Given the description of an element on the screen output the (x, y) to click on. 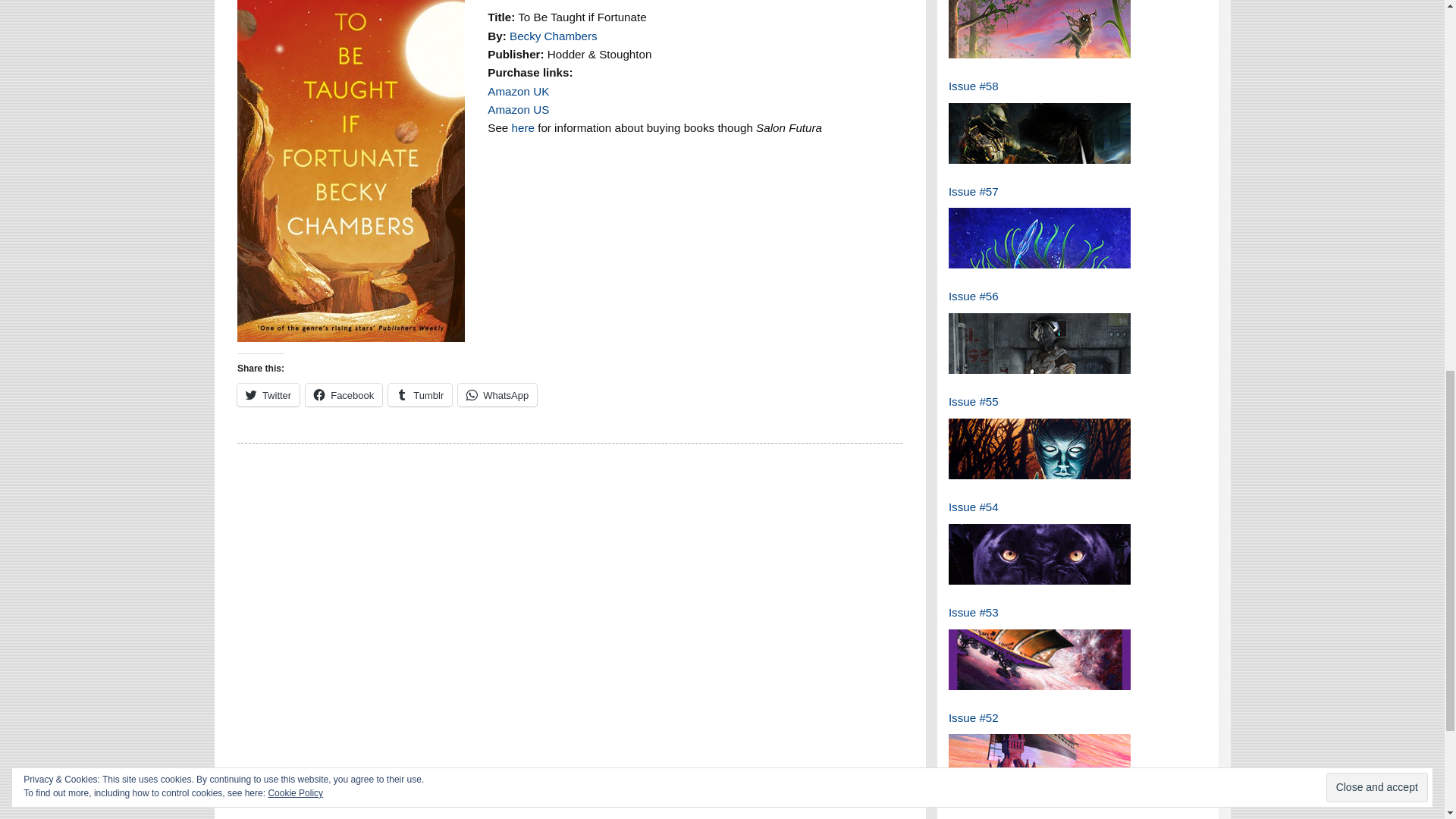
Click to share on WhatsApp (497, 395)
Facebook (343, 395)
Tumblr (419, 395)
here (523, 127)
WhatsApp (497, 395)
Twitter (268, 395)
Click to share on Twitter (268, 395)
Click to share on Facebook (343, 395)
Amazon UK (517, 91)
Becky Chambers (552, 35)
Amazon US (517, 109)
Click to share on Tumblr (419, 395)
